Given the description of an element on the screen output the (x, y) to click on. 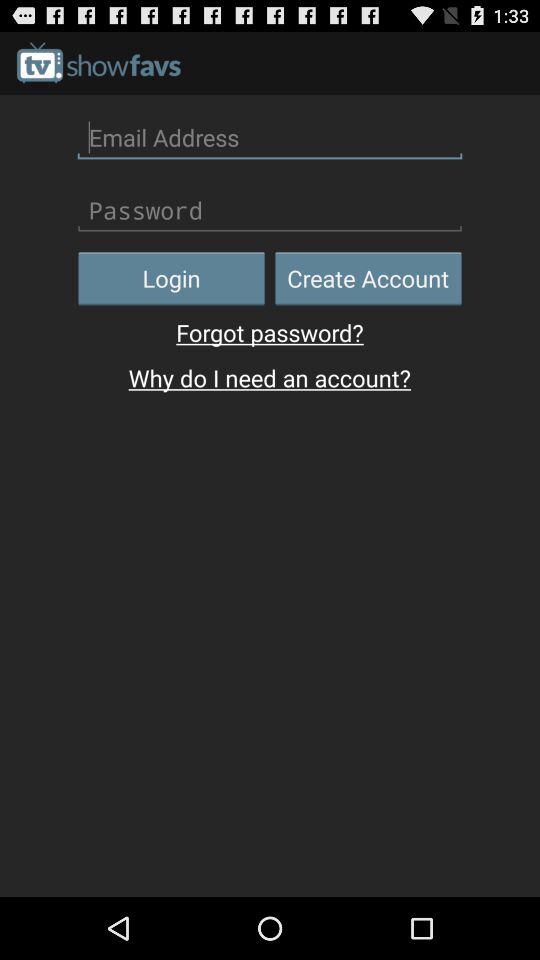
enter email (269, 137)
